Given the description of an element on the screen output the (x, y) to click on. 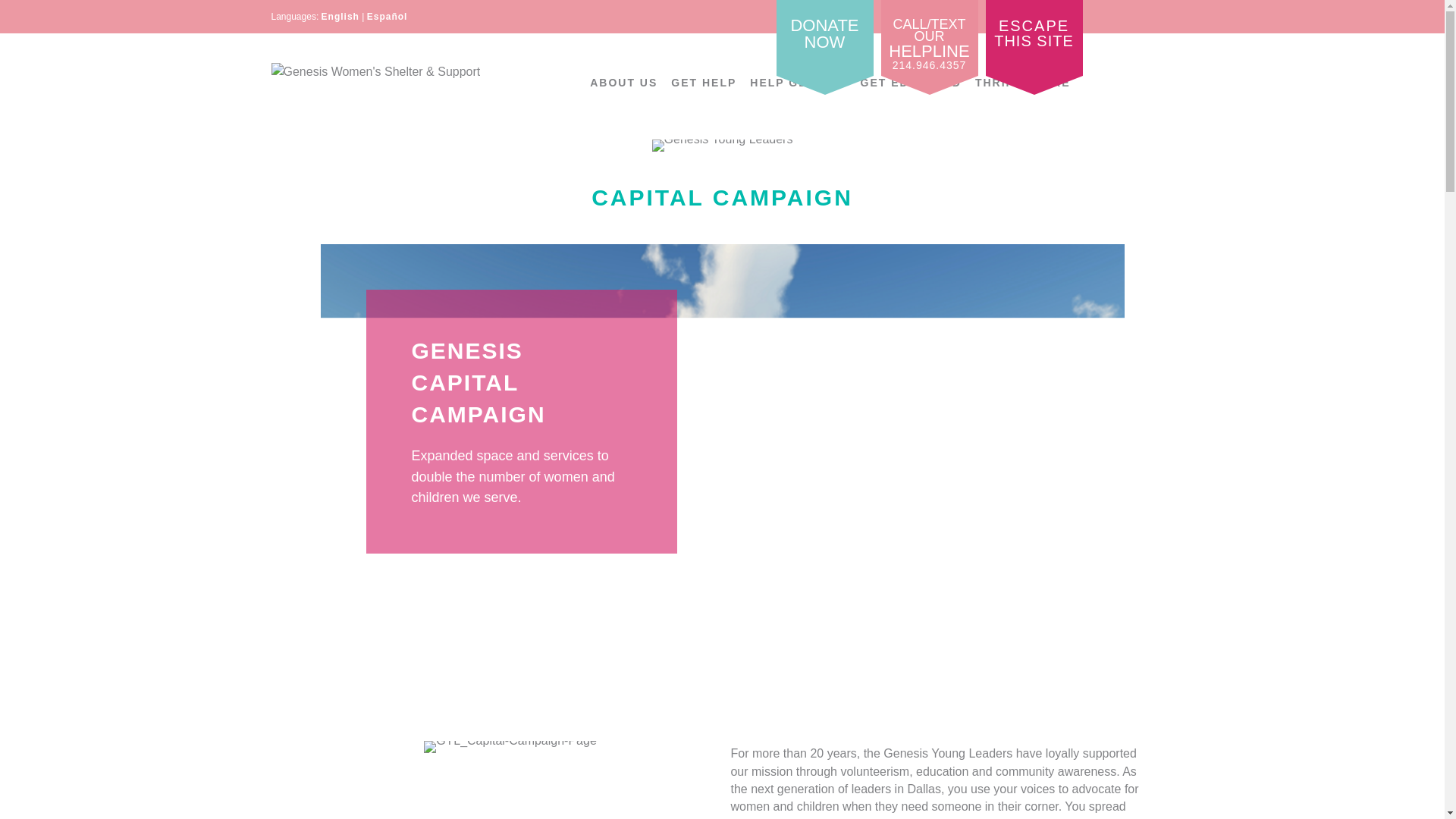
HELP GENESIS (797, 83)
ABOUT US (623, 83)
English (1034, 38)
GET HELP (824, 38)
